Given the description of an element on the screen output the (x, y) to click on. 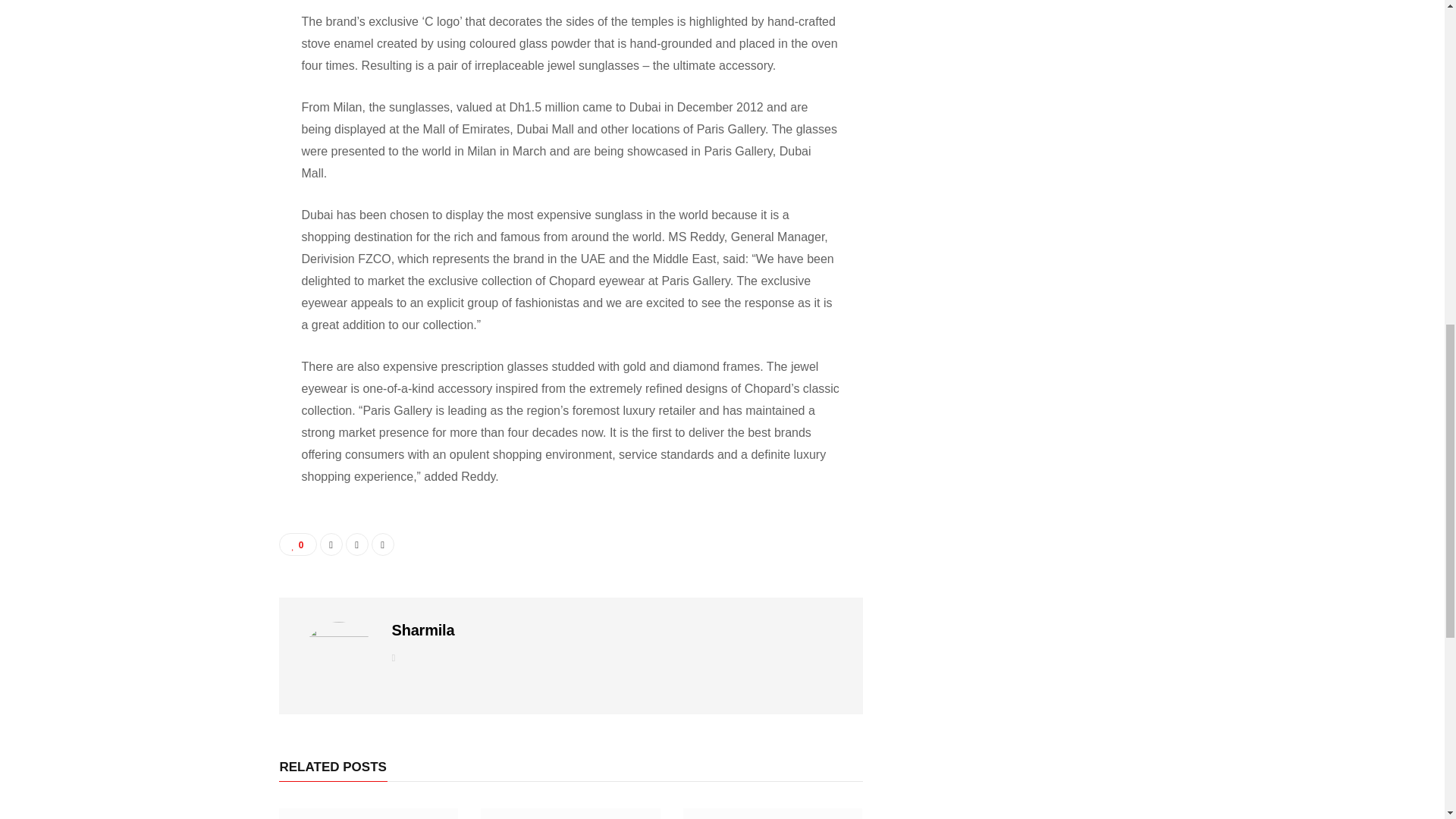
Share on Twitter (357, 544)
Share on Facebook (331, 544)
